Given the description of an element on the screen output the (x, y) to click on. 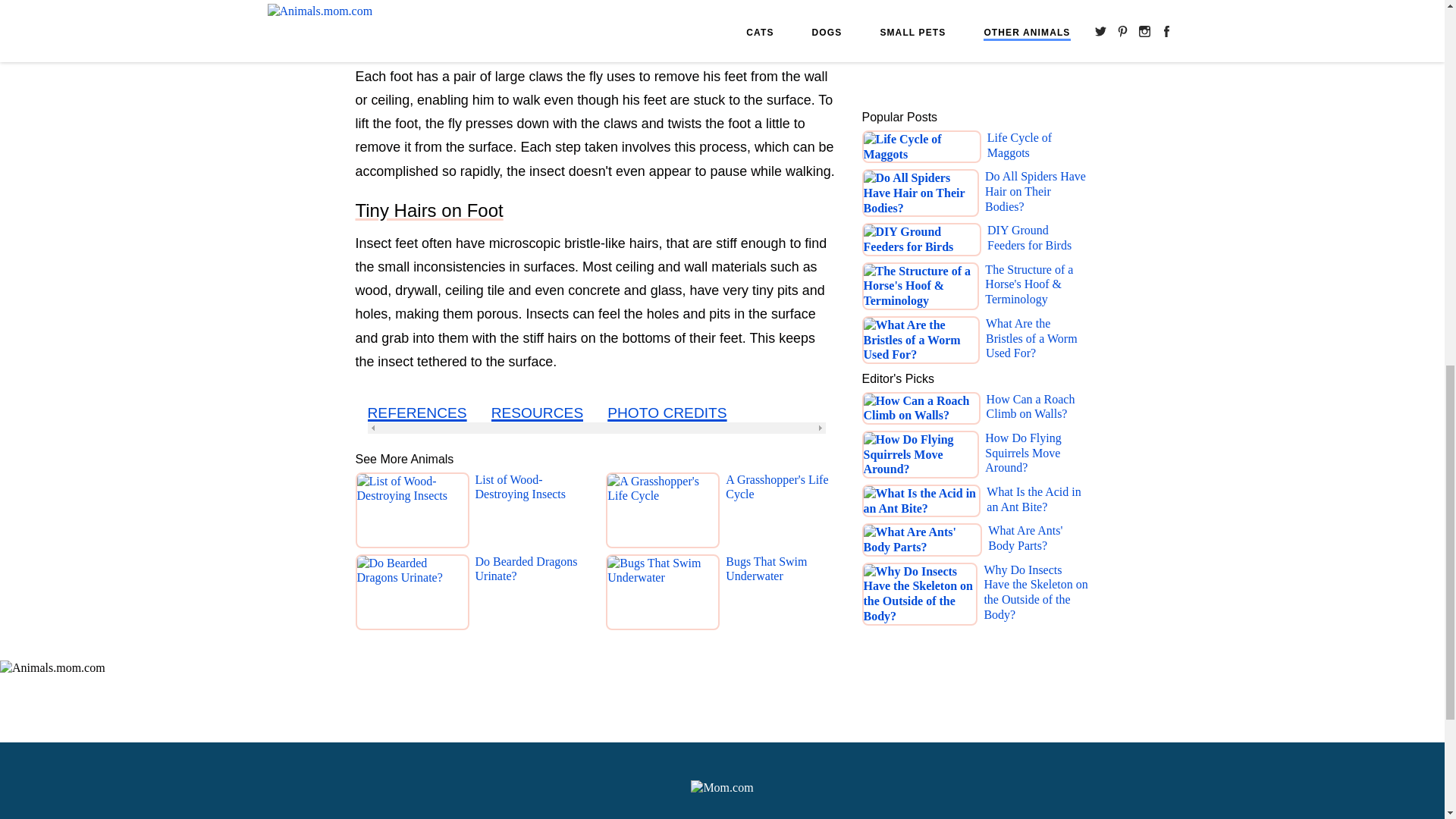
Do Bearded Dragons Urinate? (530, 595)
A Grasshopper's Life Cycle (781, 513)
Bugs That Swim Underwater (781, 595)
List of Wood-Destroying Insects (530, 513)
